Given the description of an element on the screen output the (x, y) to click on. 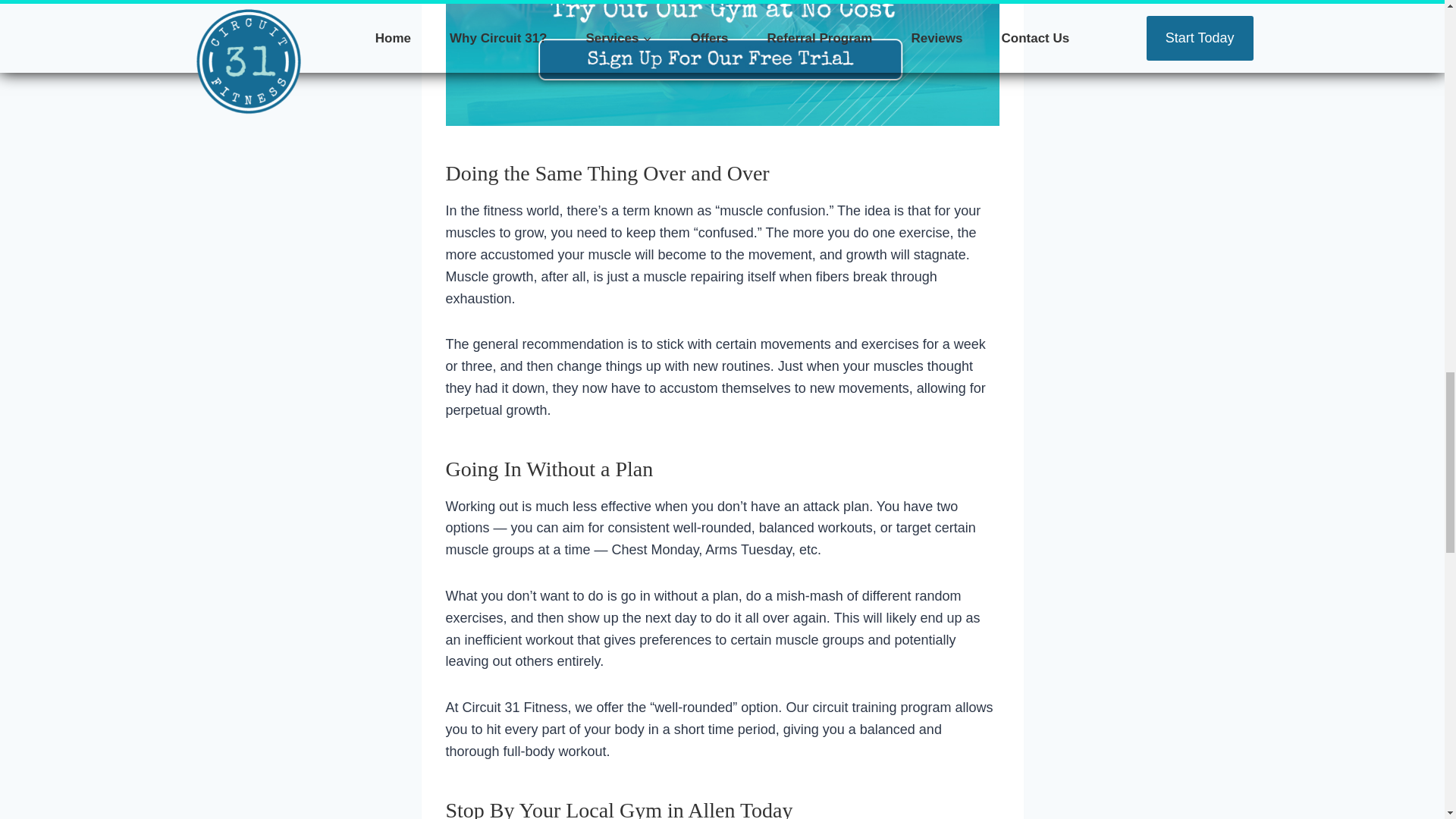
Sign Up For A Free Trial (721, 63)
